Given the description of an element on the screen output the (x, y) to click on. 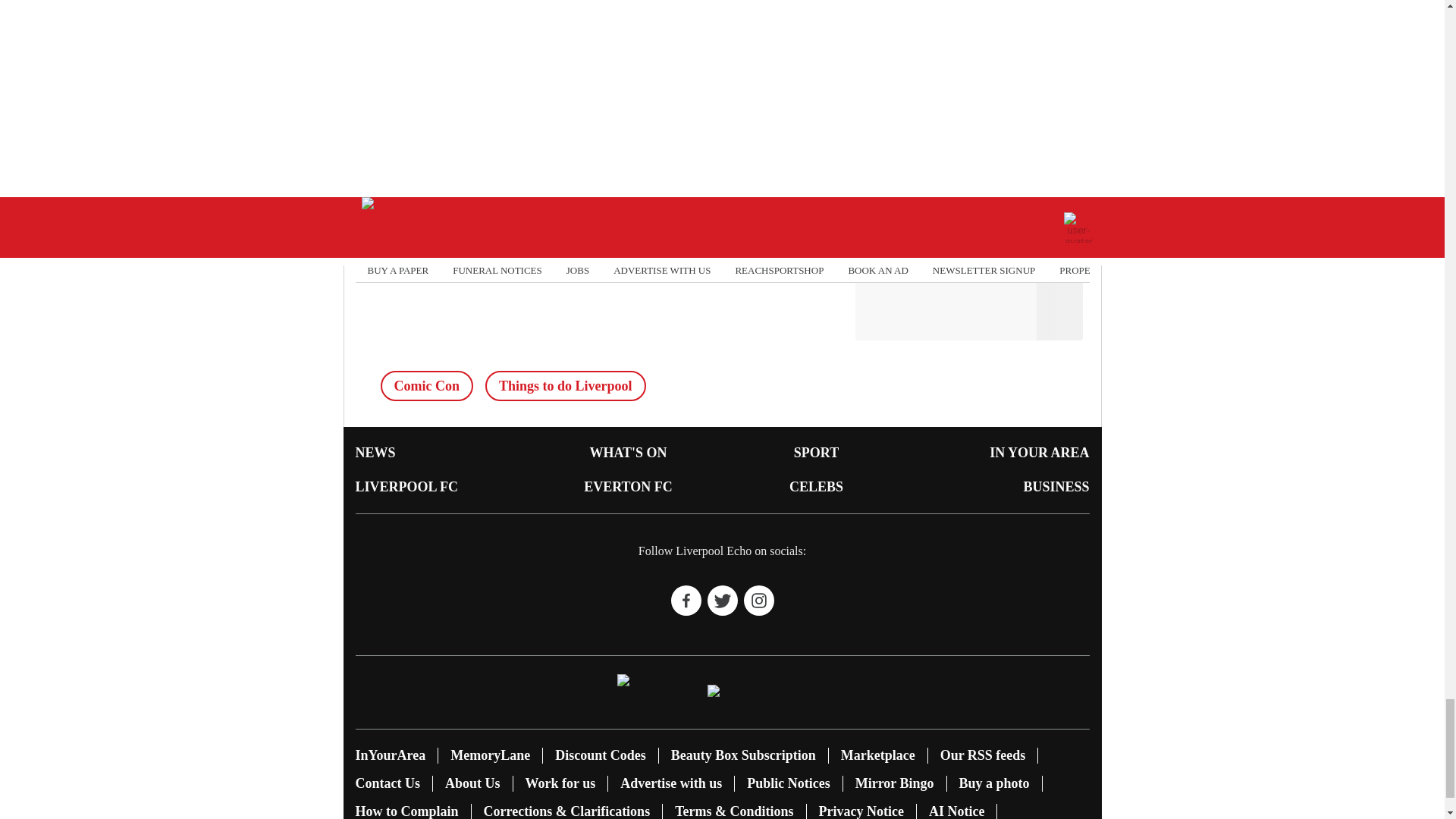
LIVERPOOL FC (406, 486)
Comic Con (427, 386)
SPORT (815, 452)
IN YOUR AREA (1039, 452)
NEWS (374, 452)
Things to do Liverpool (565, 386)
WHAT'S ON (627, 452)
